Given the description of an element on the screen output the (x, y) to click on. 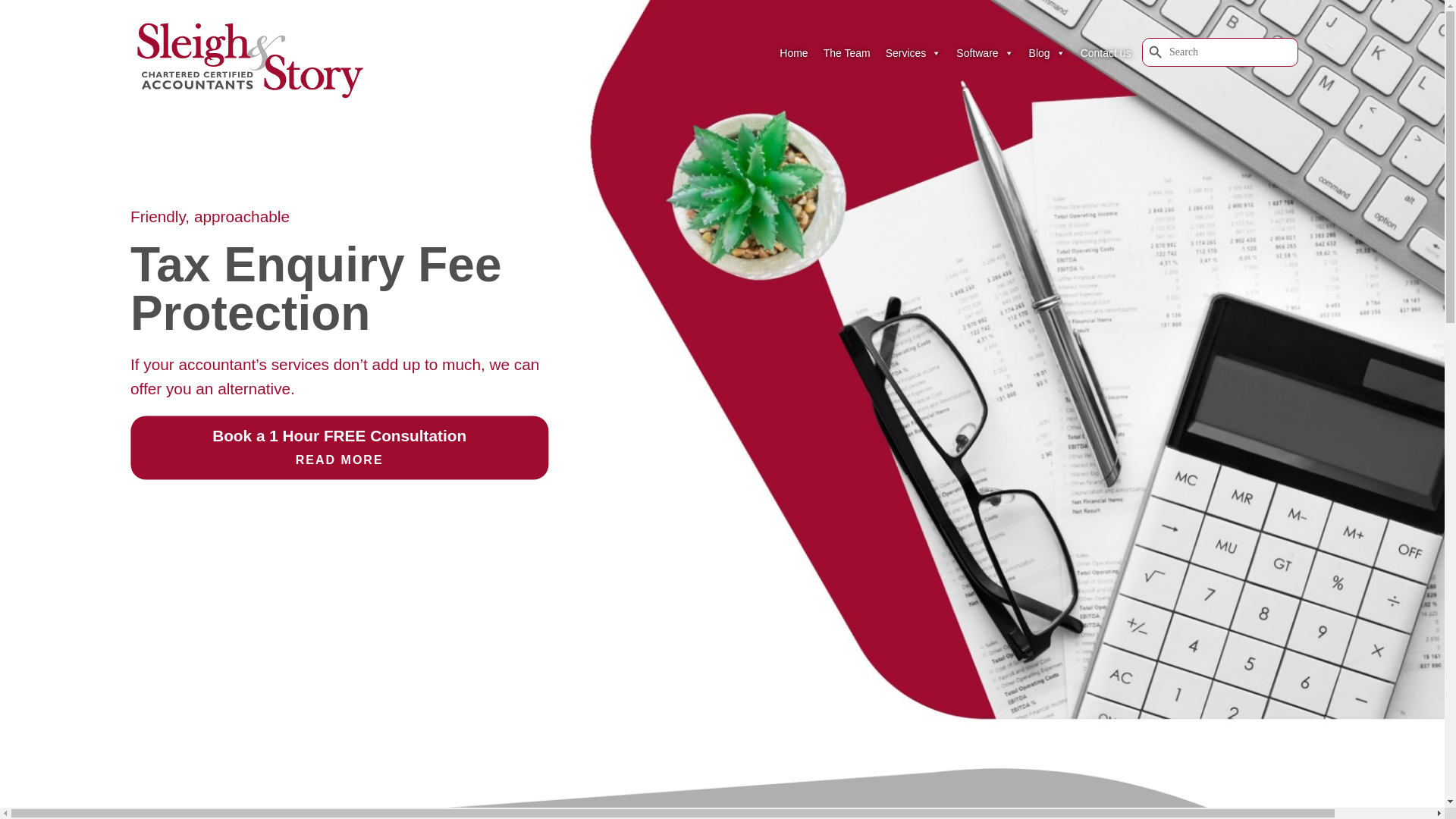
Home (793, 52)
The Team (846, 52)
Blog (1047, 52)
Services (913, 52)
Software (984, 52)
